Given the description of an element on the screen output the (x, y) to click on. 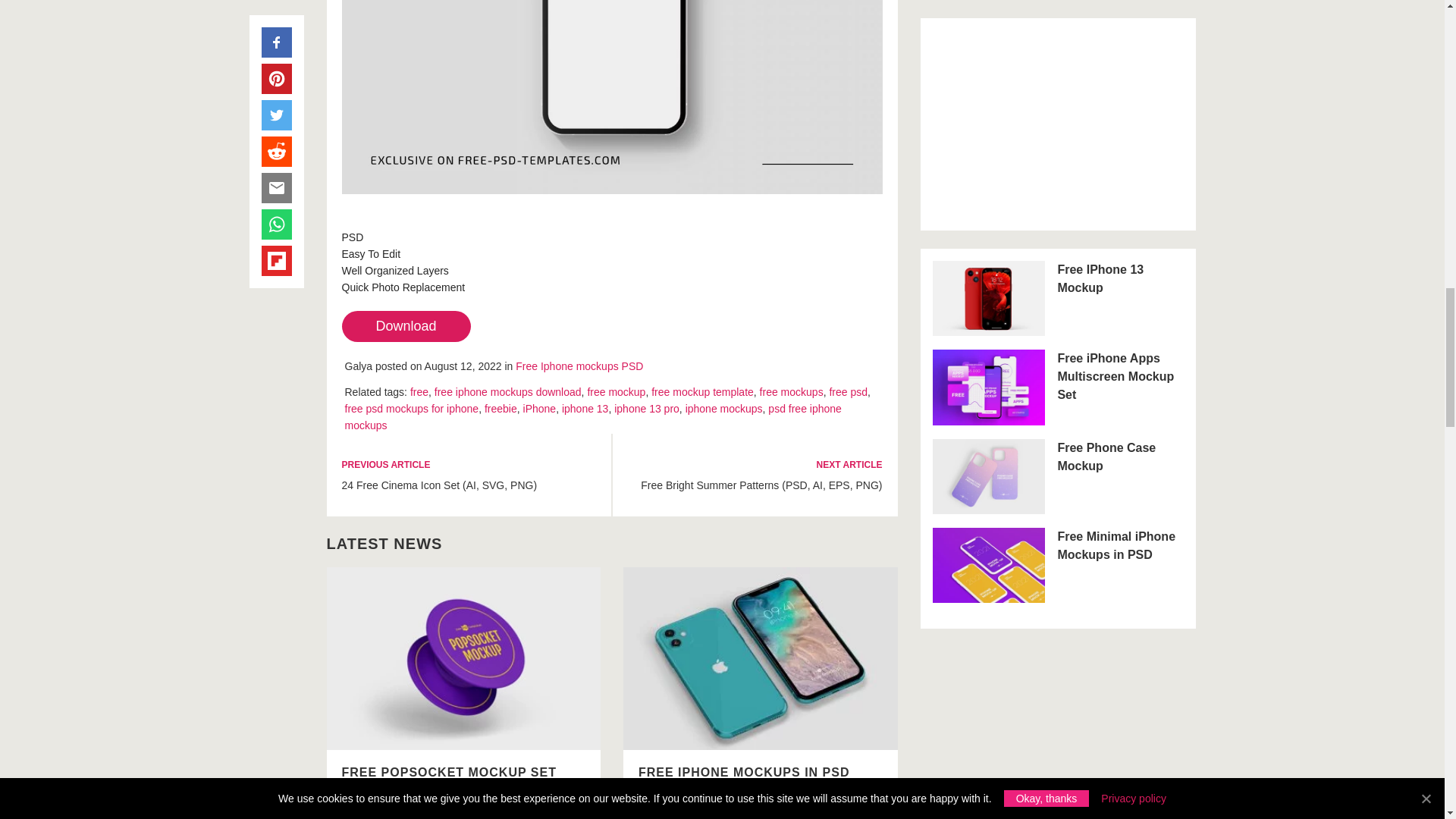
Free iPhone Mockups in PSD (760, 659)
Free Popsocket Mockup Set (462, 659)
Free iPhone Mockups in PSD (760, 658)
Free Popsocket Mockup Set (448, 771)
Free Popsocket Mockup Set (462, 658)
Free iPhone 13 Pro Mockup Set (611, 97)
Free iPhone Mockups in PSD (743, 771)
